Given the description of an element on the screen output the (x, y) to click on. 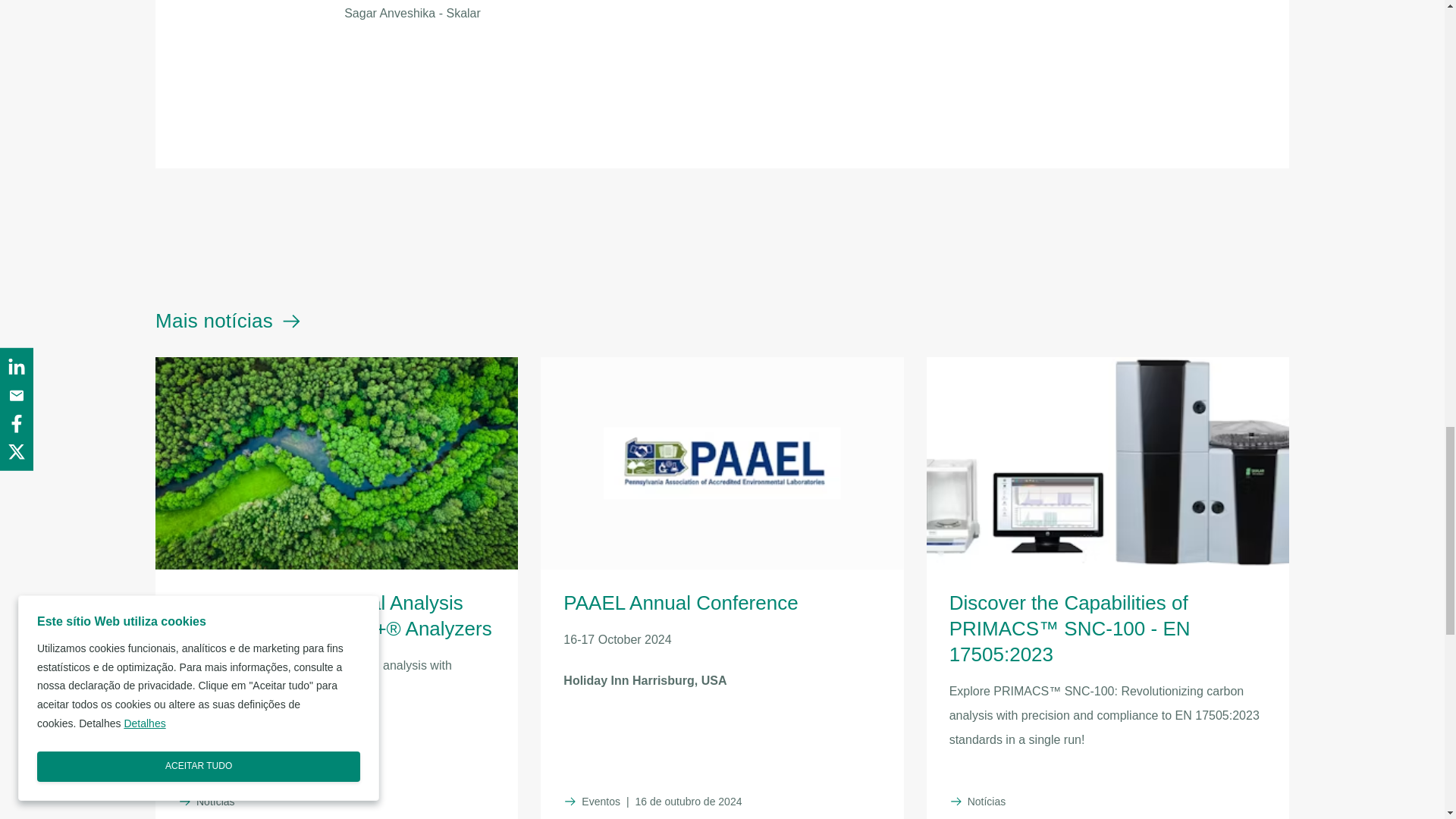
Forest river top view (336, 463)
PAAEL 2024 2 (721, 12)
Primacs SNC 100 (721, 463)
